Given the description of an element on the screen output the (x, y) to click on. 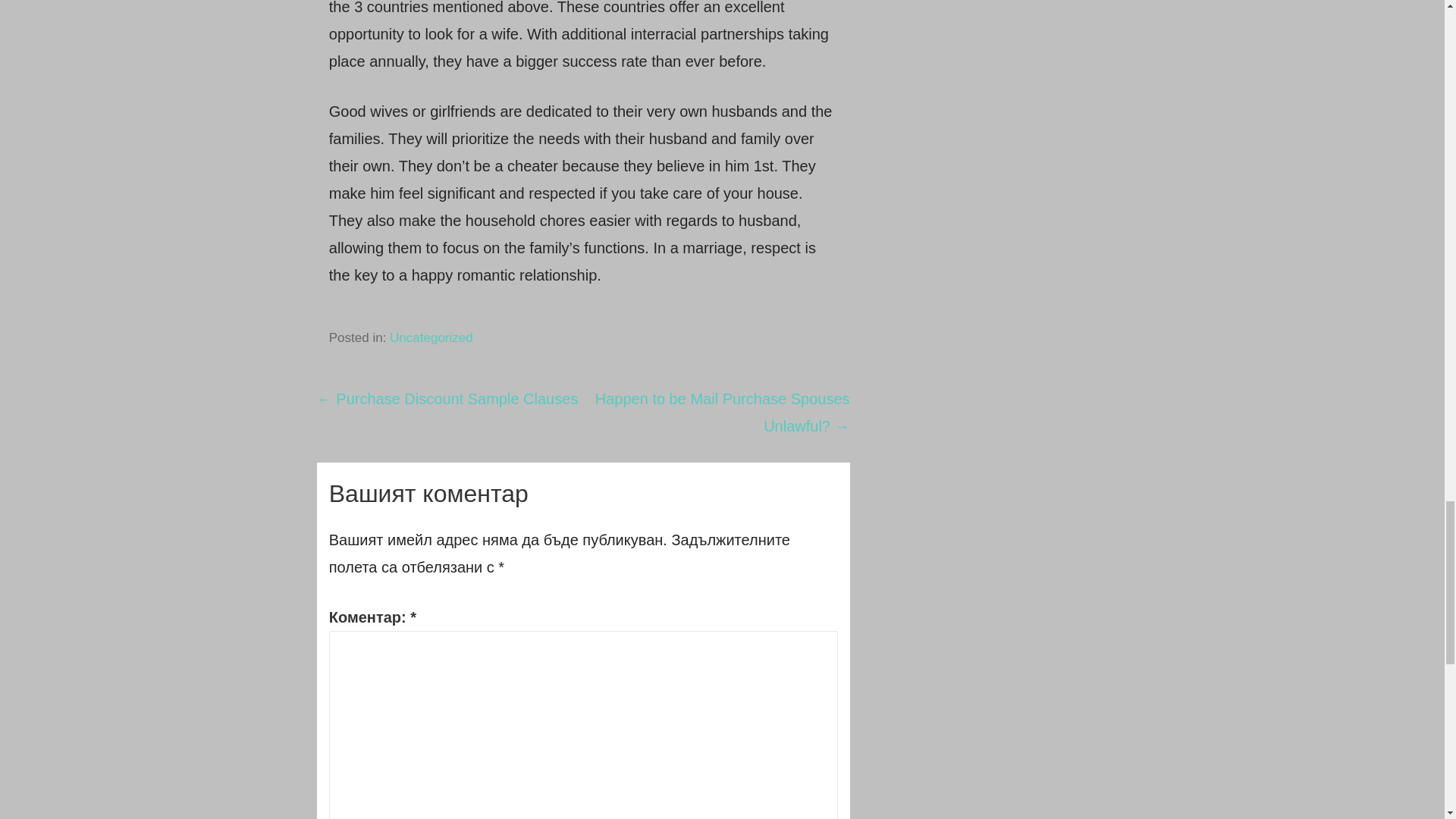
Uncategorized (431, 337)
